Given the description of an element on the screen output the (x, y) to click on. 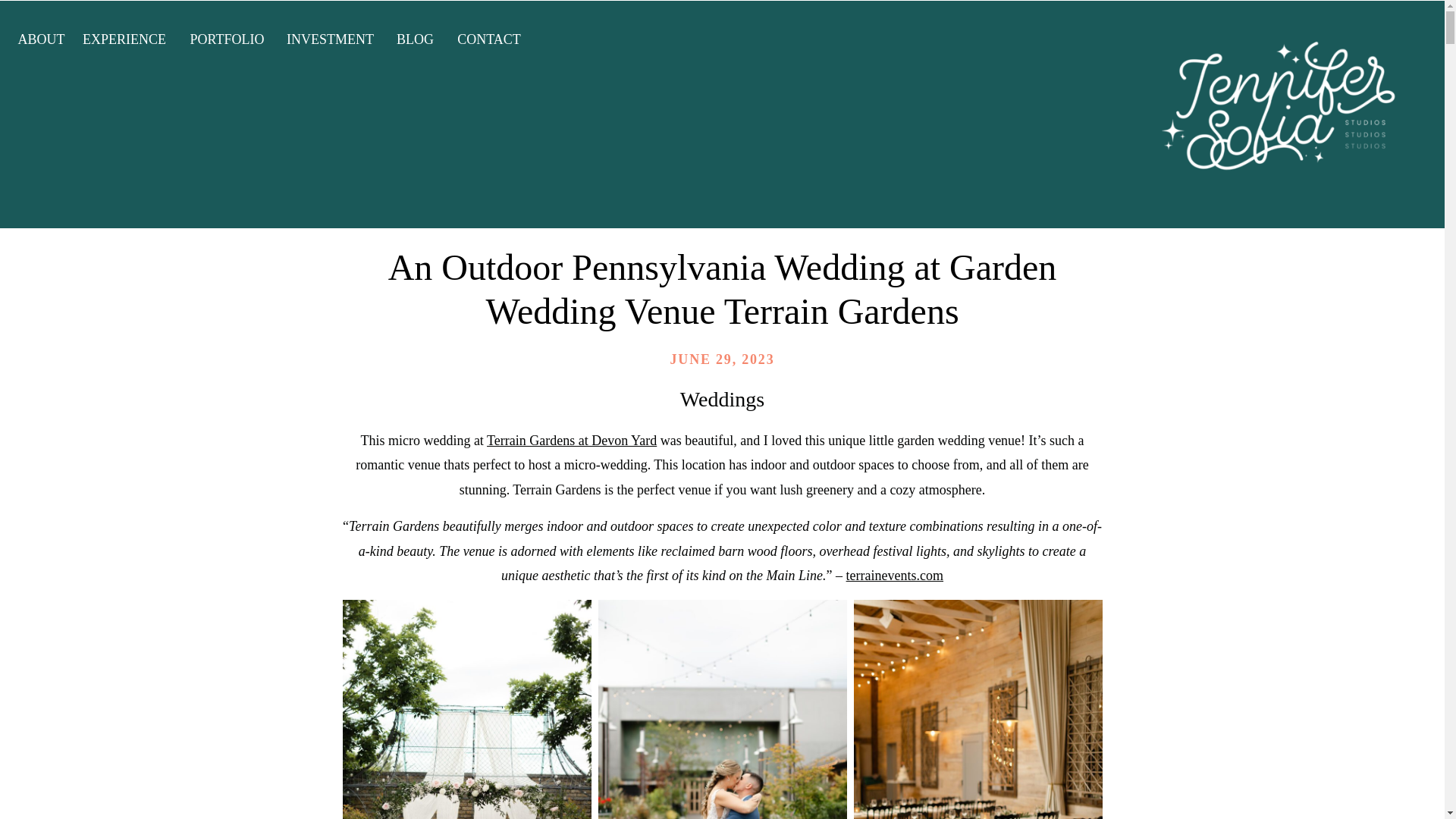
EXPERIENCE (124, 36)
INVESTMENT (330, 36)
Terrain Gardens at Devon Yard (571, 440)
terrainevents.com (894, 575)
BLOG (414, 36)
PORTFOLIO (226, 36)
ABOUT (40, 36)
Weddings (721, 399)
